Given the description of an element on the screen output the (x, y) to click on. 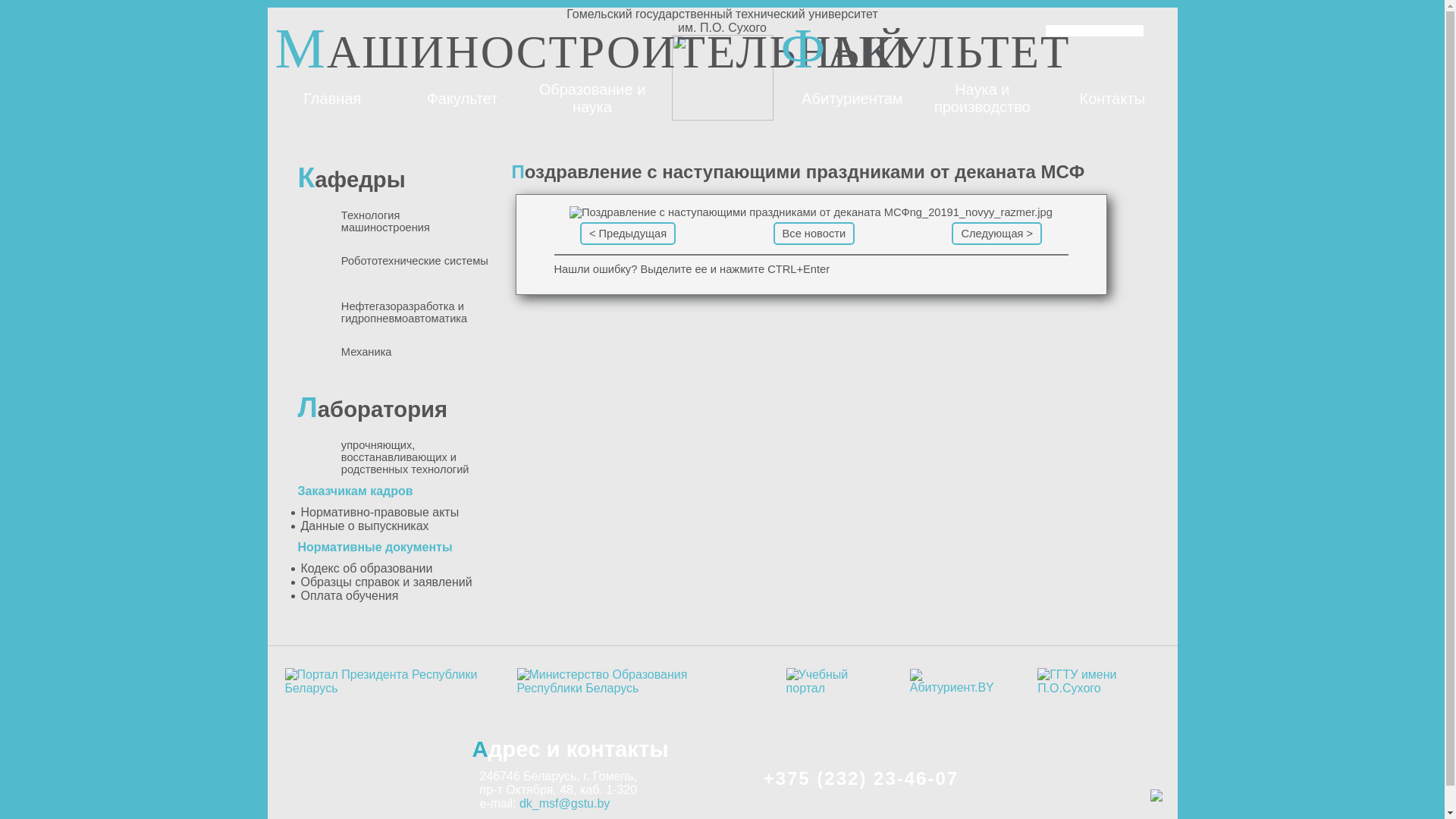
dk_msf@gstu.by Element type: text (564, 803)
